Given the description of an element on the screen output the (x, y) to click on. 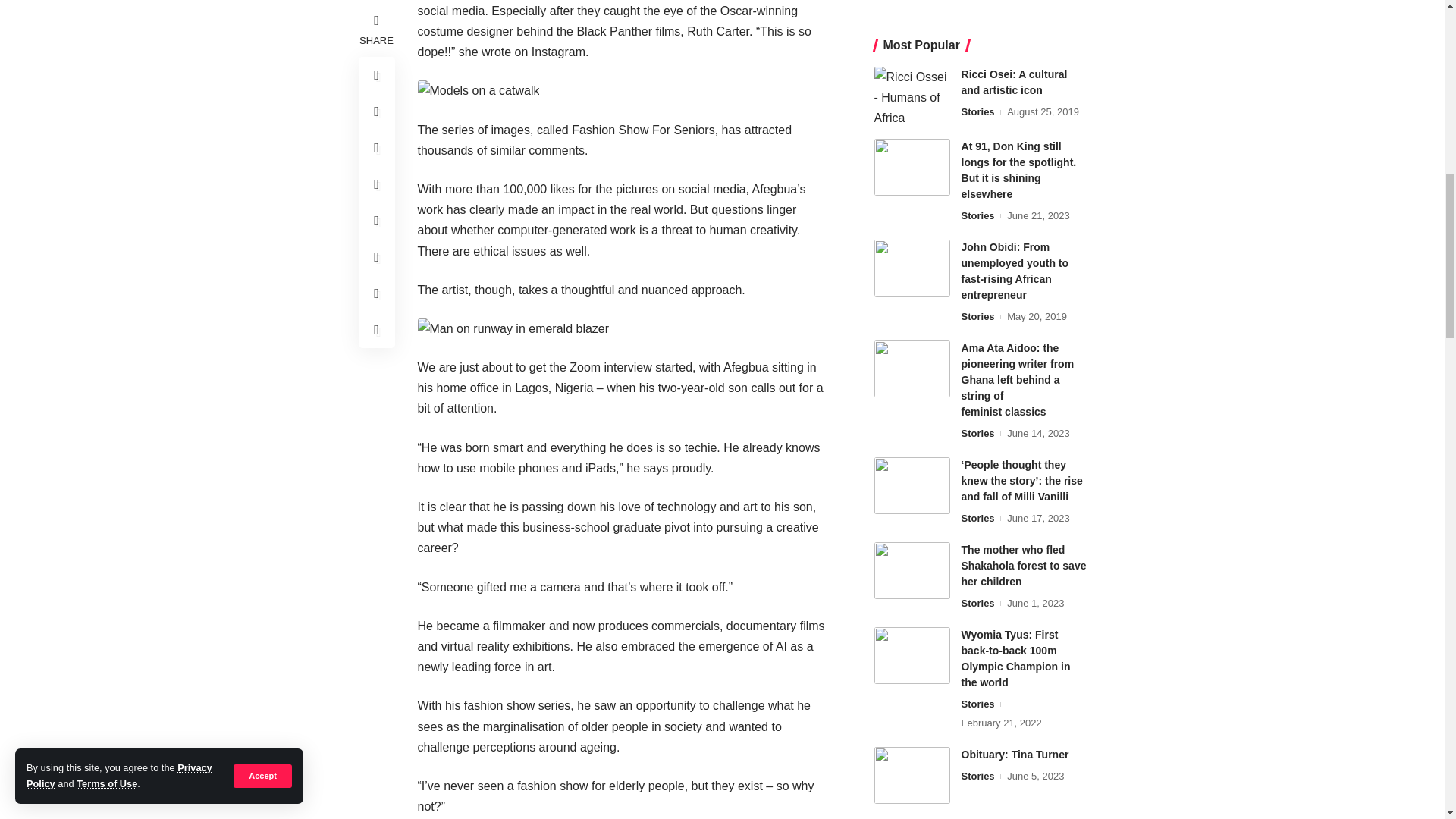
Venice Biennale: The woman behind the whirlwind festival (912, 258)
The mother who fled Shakahola forest to save her children (912, 5)
Obituary: Tina Turner (912, 186)
